Given the description of an element on the screen output the (x, y) to click on. 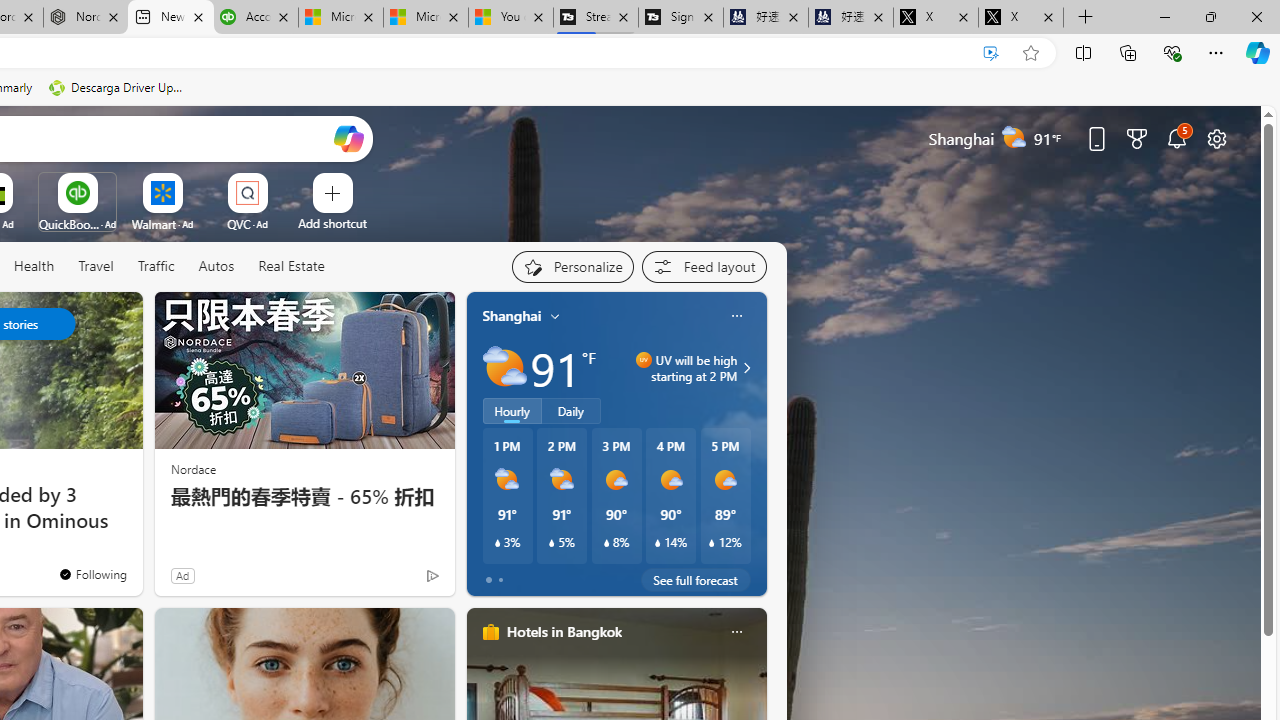
Partly sunny (504, 368)
